Given the description of an element on the screen output the (x, y) to click on. 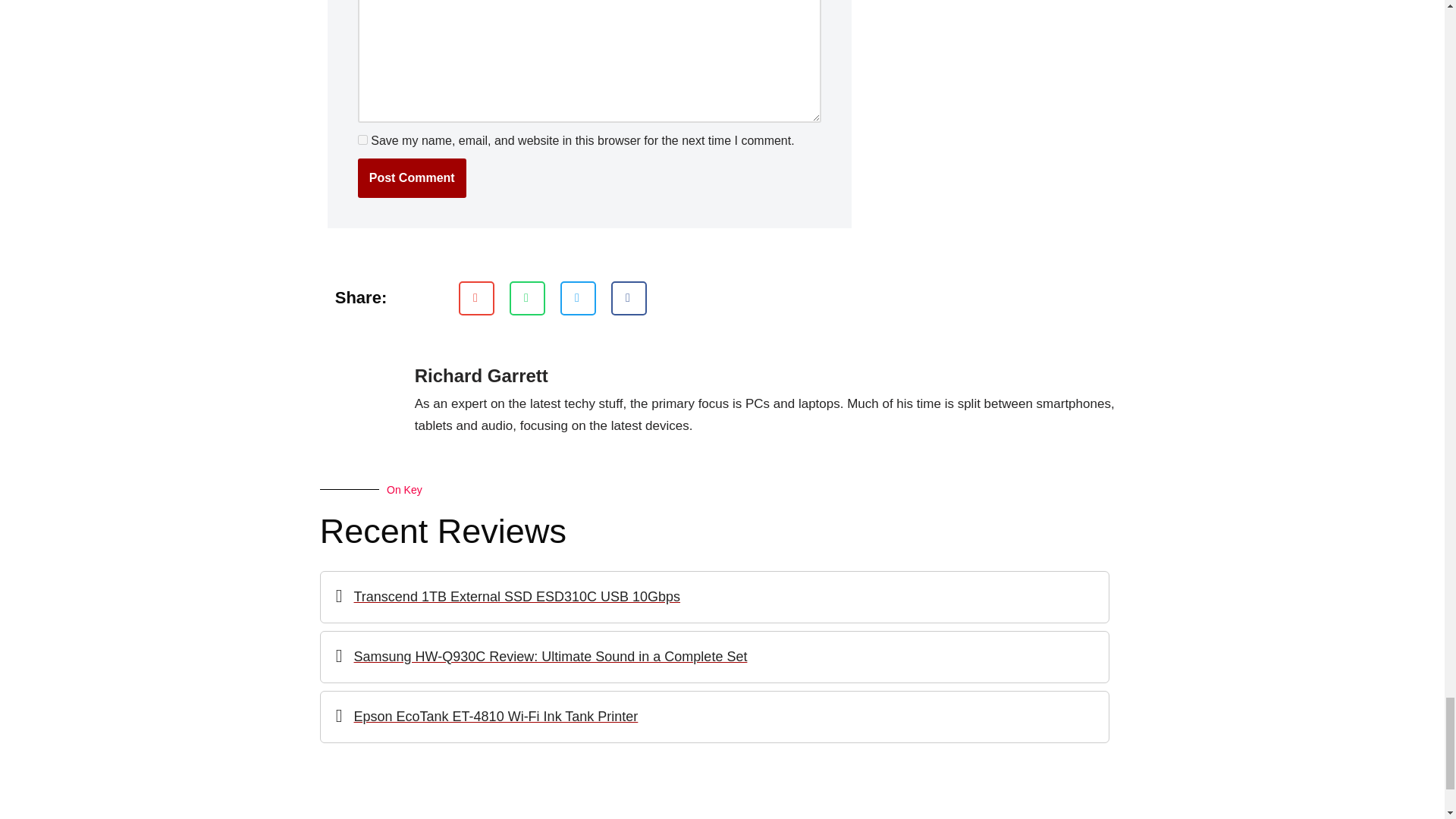
Post Comment (411, 178)
yes (363, 139)
